Given the description of an element on the screen output the (x, y) to click on. 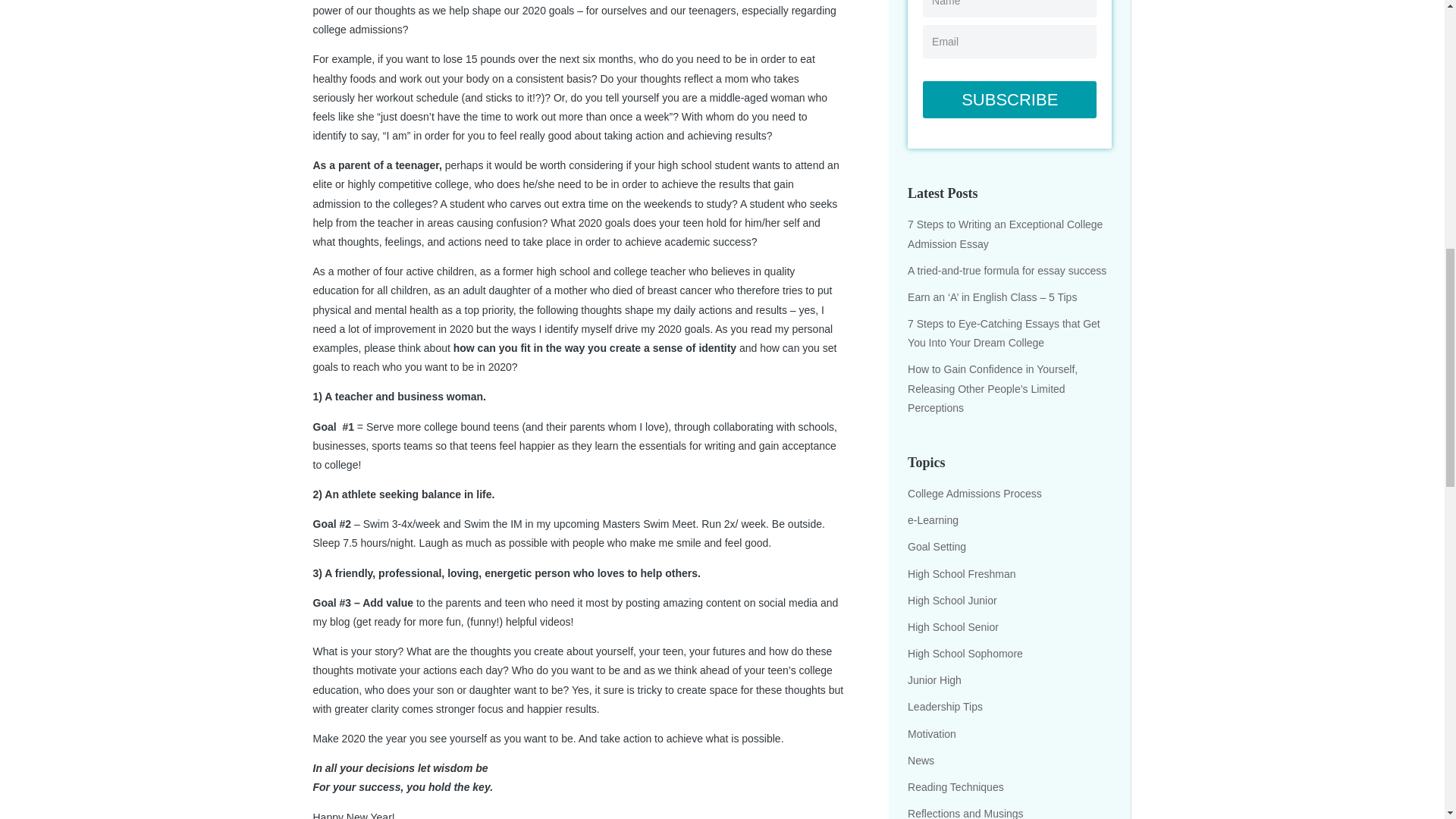
College Admissions Process (974, 493)
Goal Setting (936, 546)
High School Freshman (960, 573)
News (920, 760)
Junior High (933, 680)
A tried-and-true formula for essay success (1006, 270)
Reading Techniques (955, 787)
High School Junior (952, 600)
7 Steps to Writing an Exceptional College Admission Essay (1004, 233)
Reflections and Musings (965, 813)
